Given the description of an element on the screen output the (x, y) to click on. 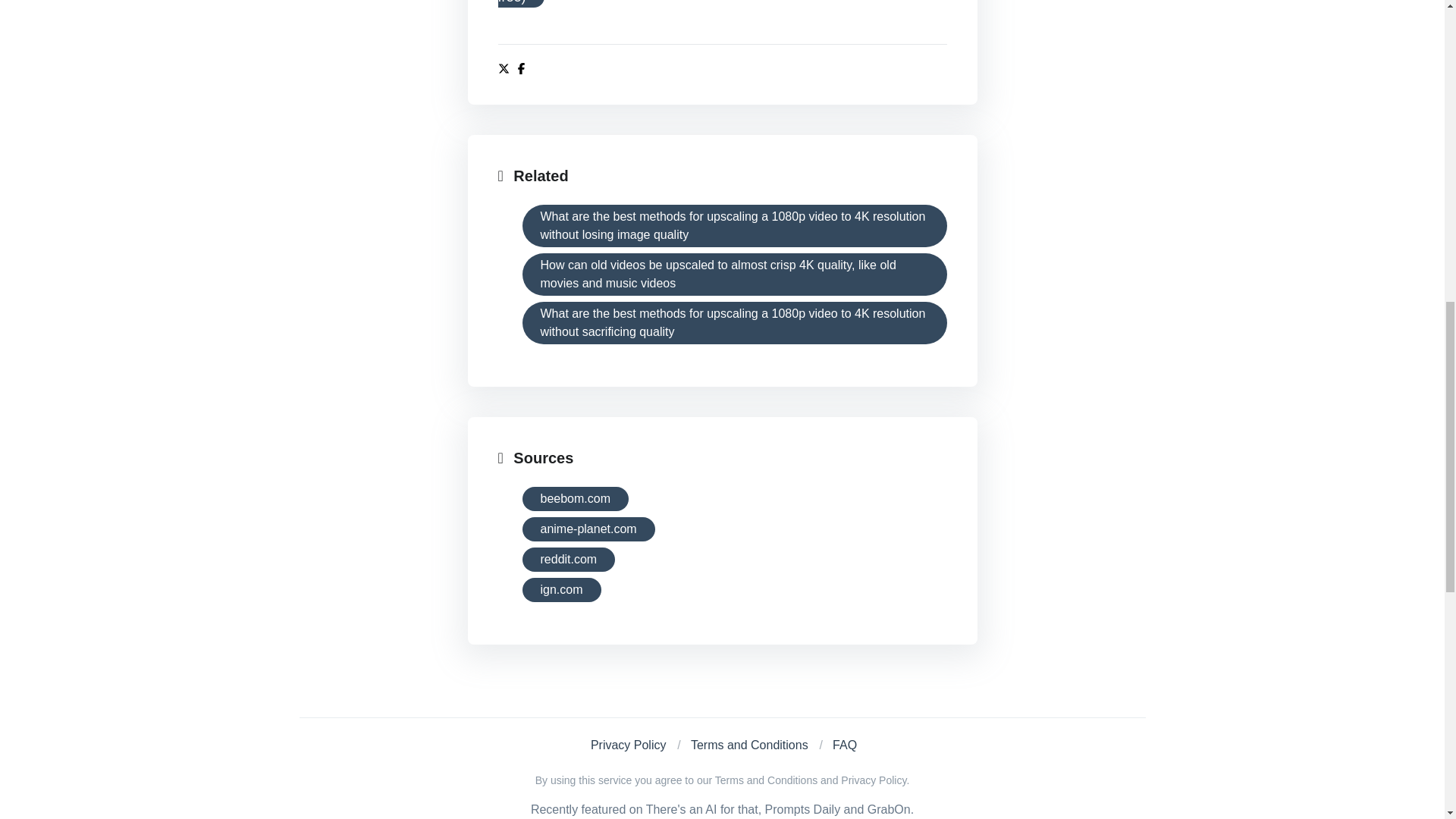
anime-planet.com (587, 528)
FAQ (844, 744)
beebom.com (574, 498)
ign.com (560, 589)
reddit.com (567, 559)
Privacy Policy (628, 744)
Terms and Conditions (749, 744)
